Given the description of an element on the screen output the (x, y) to click on. 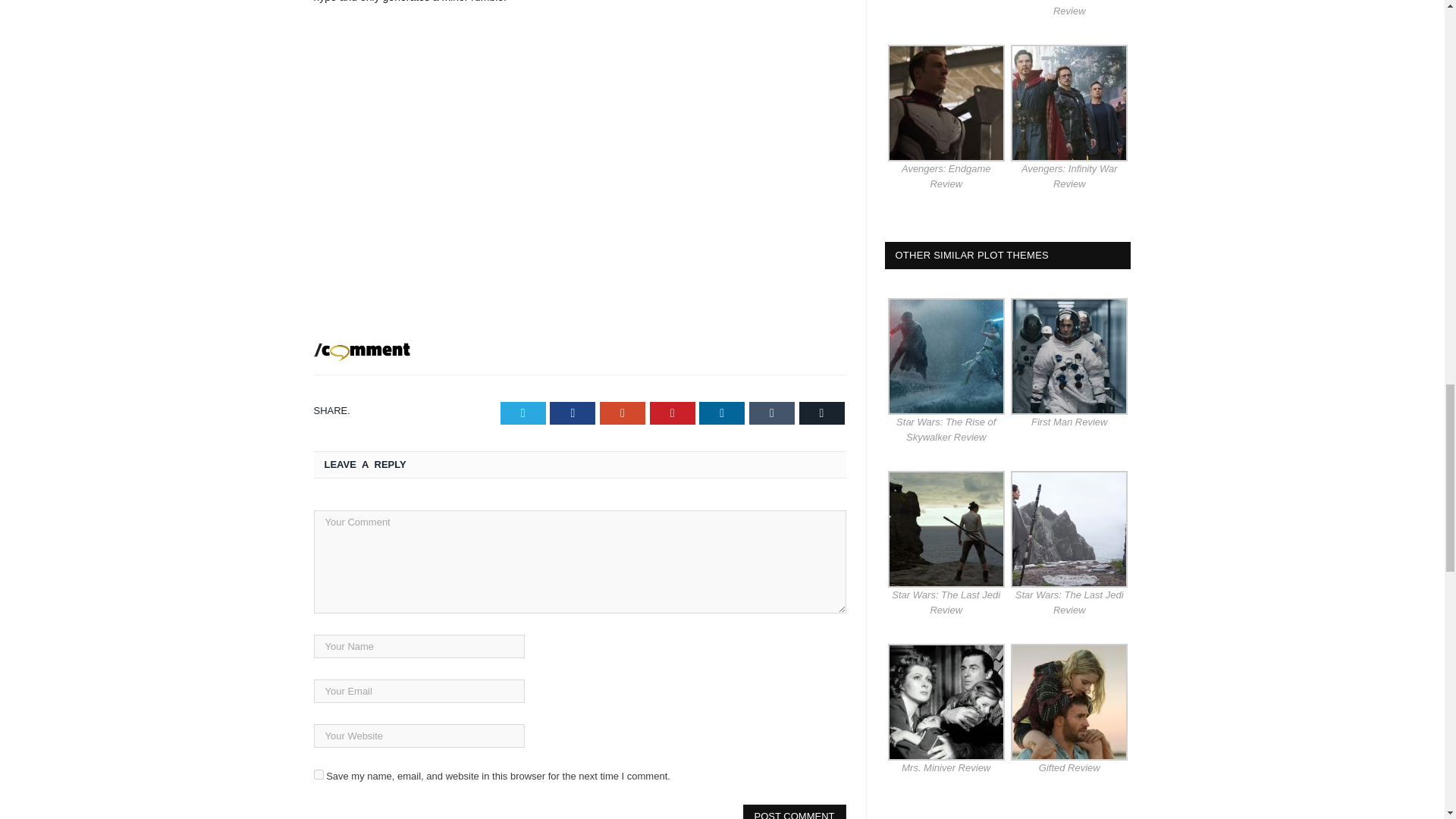
slashcomment white signature (362, 352)
Share on Tumblr (771, 413)
Share via Email (821, 413)
Share on Pinterest (672, 413)
Share on Facebook (572, 413)
yes (318, 774)
Share on LinkedIn (721, 413)
Post Comment (793, 811)
Tweet It (523, 413)
